Given the description of an element on the screen output the (x, y) to click on. 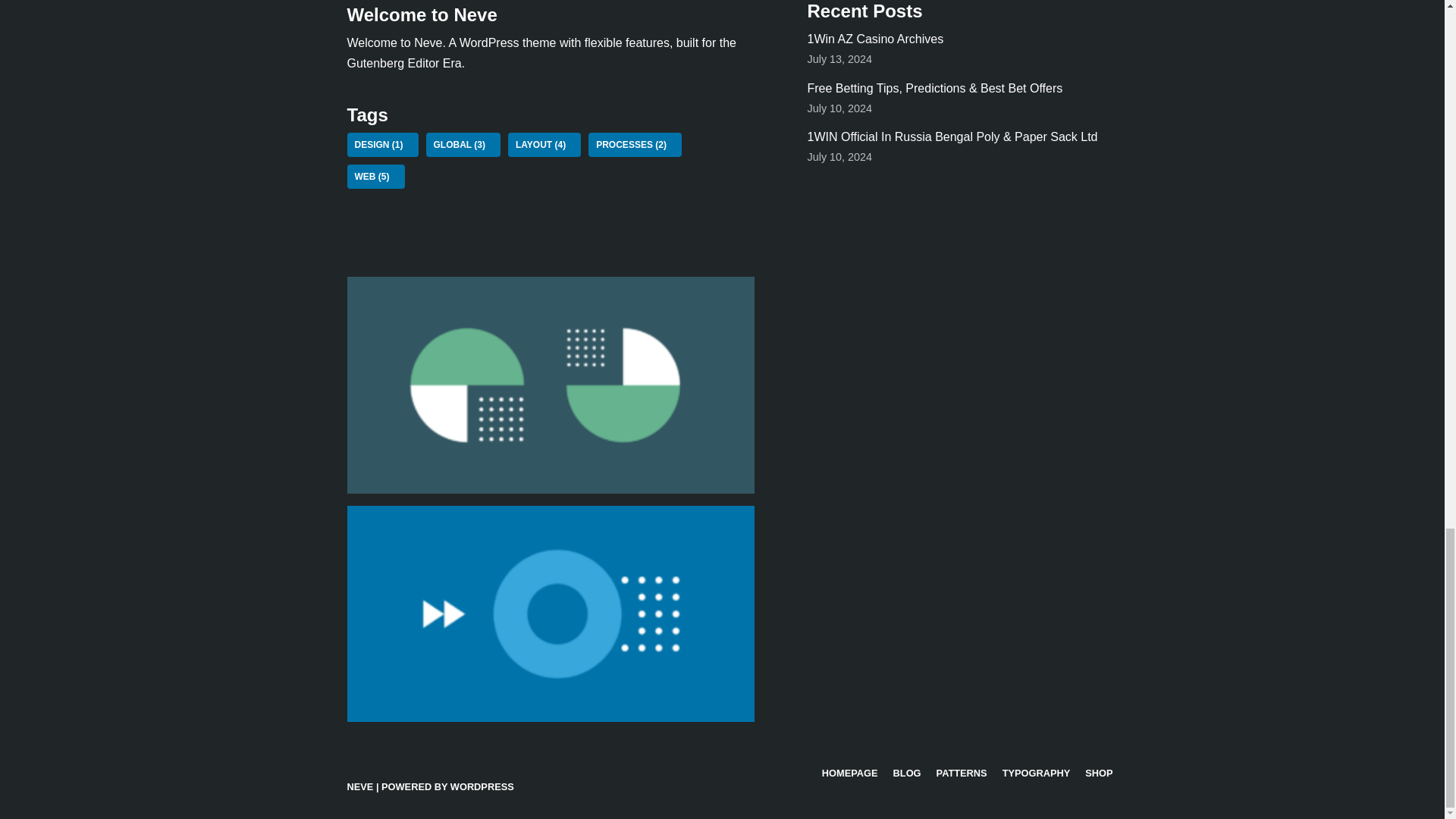
1Win AZ Casino Archives (874, 38)
WORDPRESS (481, 786)
NEVE (360, 786)
